Given the description of an element on the screen output the (x, y) to click on. 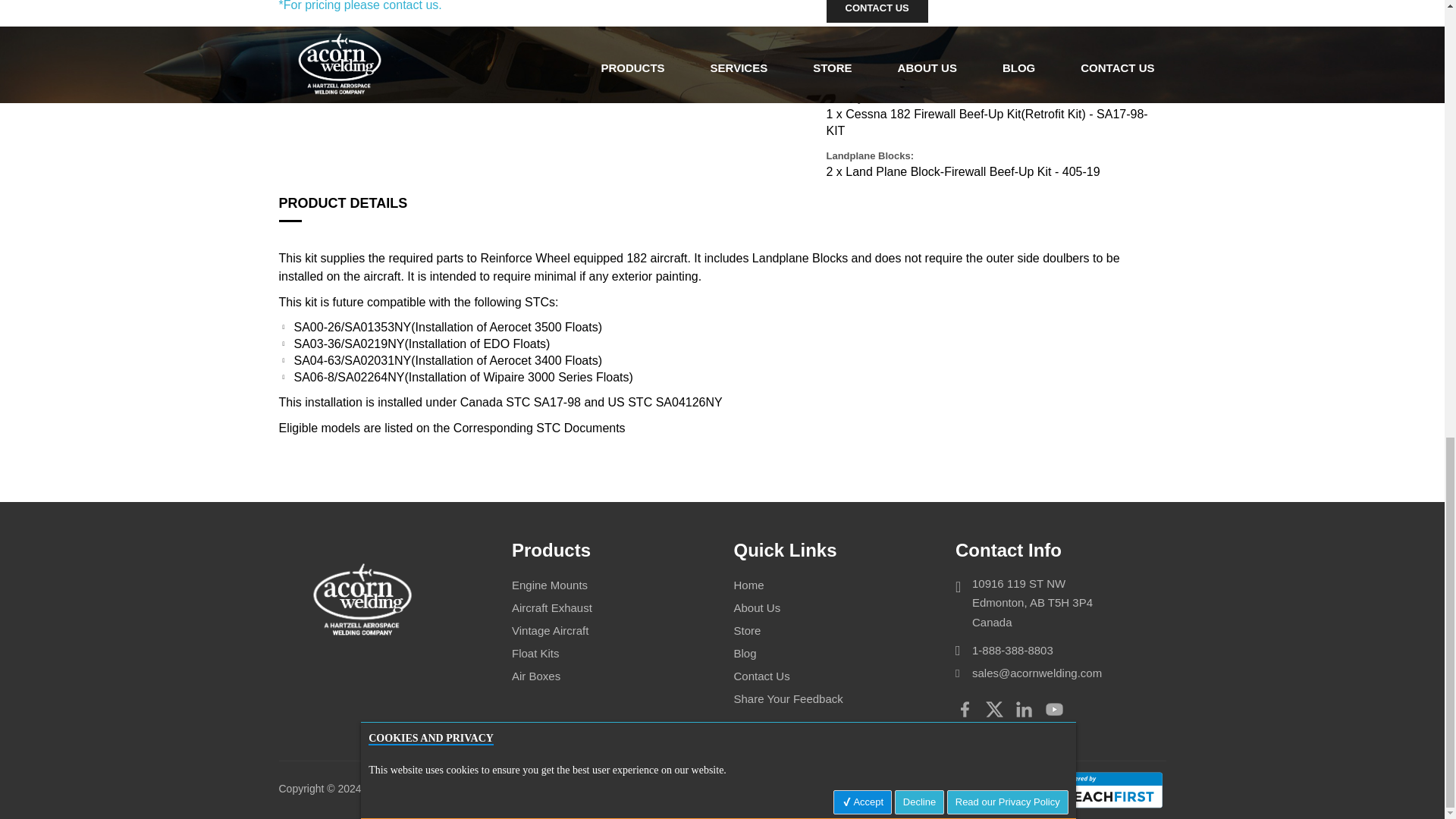
Contact Us (877, 11)
